Given the description of an element on the screen output the (x, y) to click on. 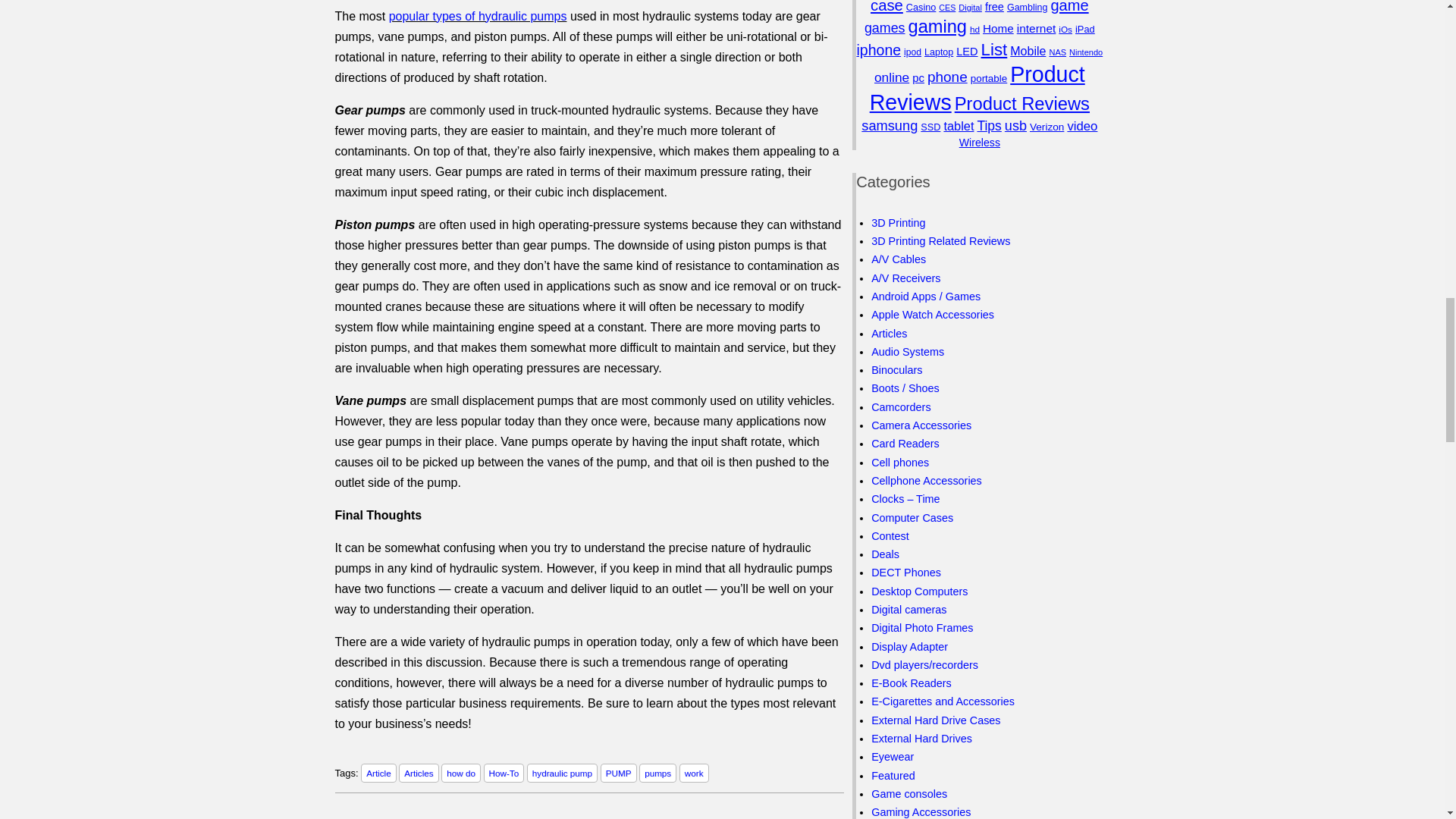
work (694, 772)
popular types of hydraulic pumps (477, 15)
How-To (503, 772)
hydraulic pump (561, 772)
pumps (658, 772)
Articles (418, 772)
how do (460, 772)
Article (378, 772)
PUMP (618, 772)
